Given the description of an element on the screen output the (x, y) to click on. 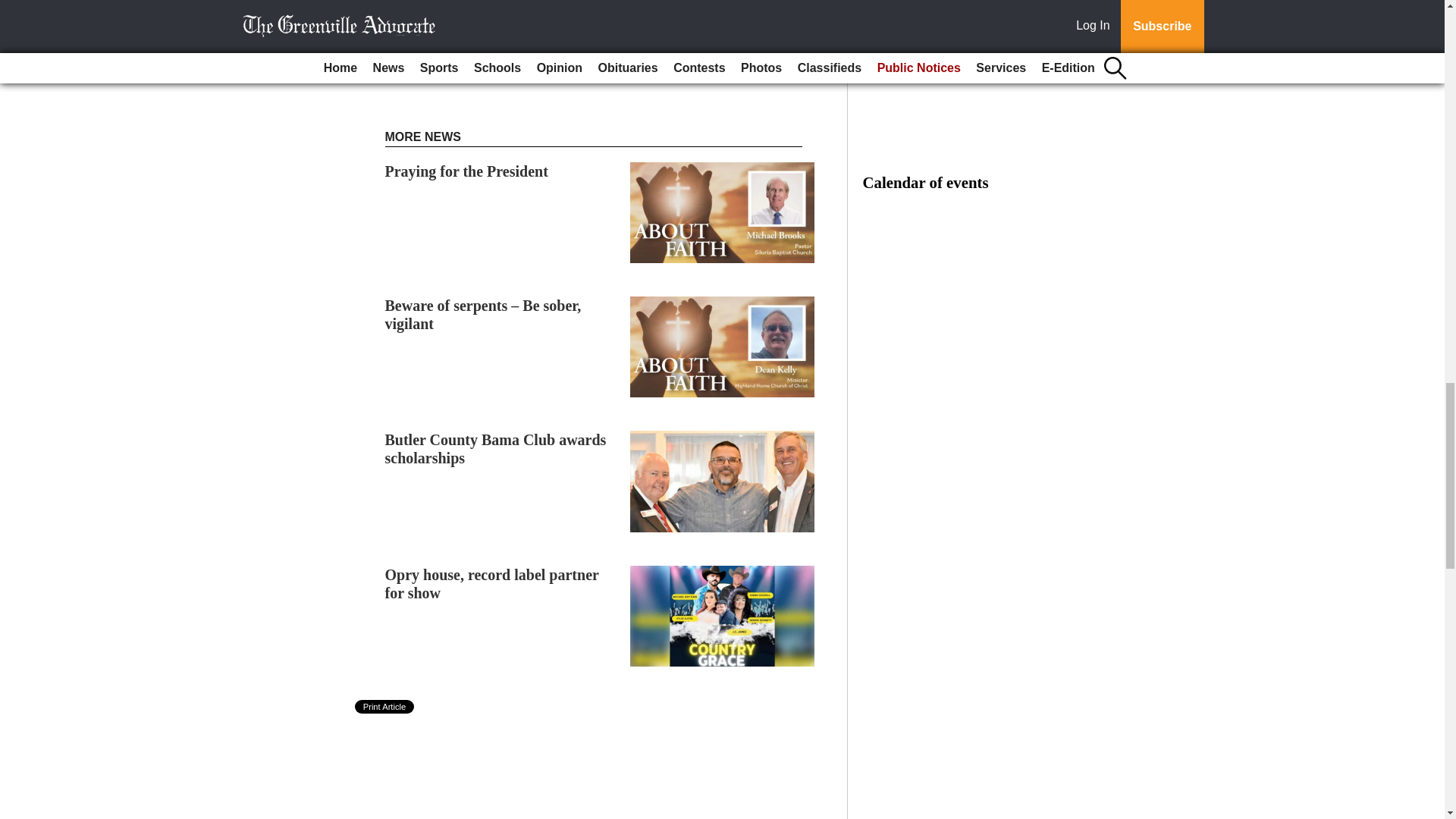
Butler County Bama Club awards scholarships (496, 448)
Print Article (384, 706)
Opry house, record label partner for show (491, 583)
Opry house, record label partner for show (491, 583)
Butler County Bama Club awards scholarships (496, 448)
Praying for the President (466, 170)
Praying for the President (466, 170)
